Given the description of an element on the screen output the (x, y) to click on. 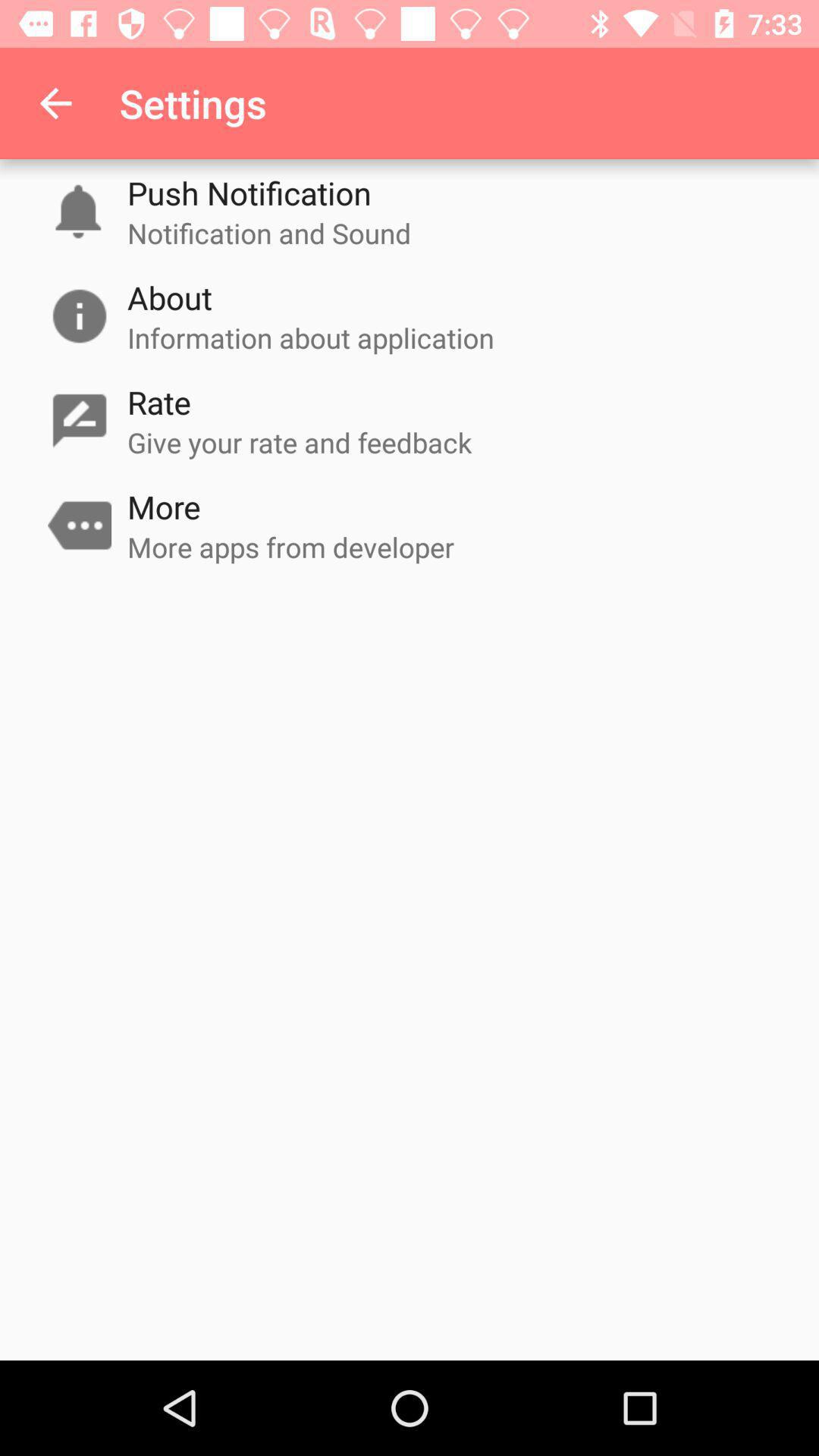
tap the icon above notification and sound item (249, 192)
